Given the description of an element on the screen output the (x, y) to click on. 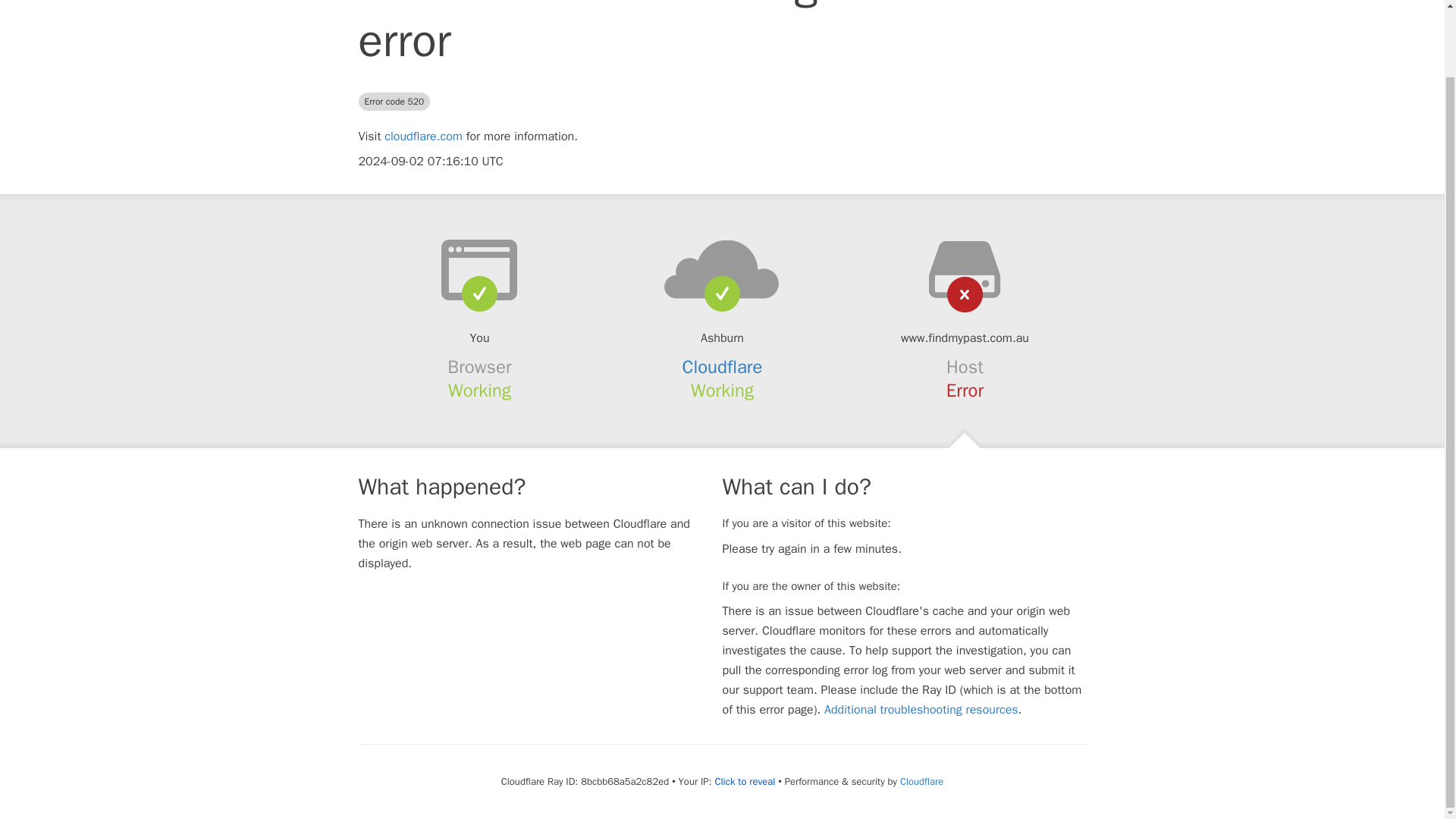
cloudflare.com (423, 136)
Additional troubleshooting resources (920, 709)
Cloudflare (722, 366)
Cloudflare (921, 780)
Click to reveal (744, 781)
